Given the description of an element on the screen output the (x, y) to click on. 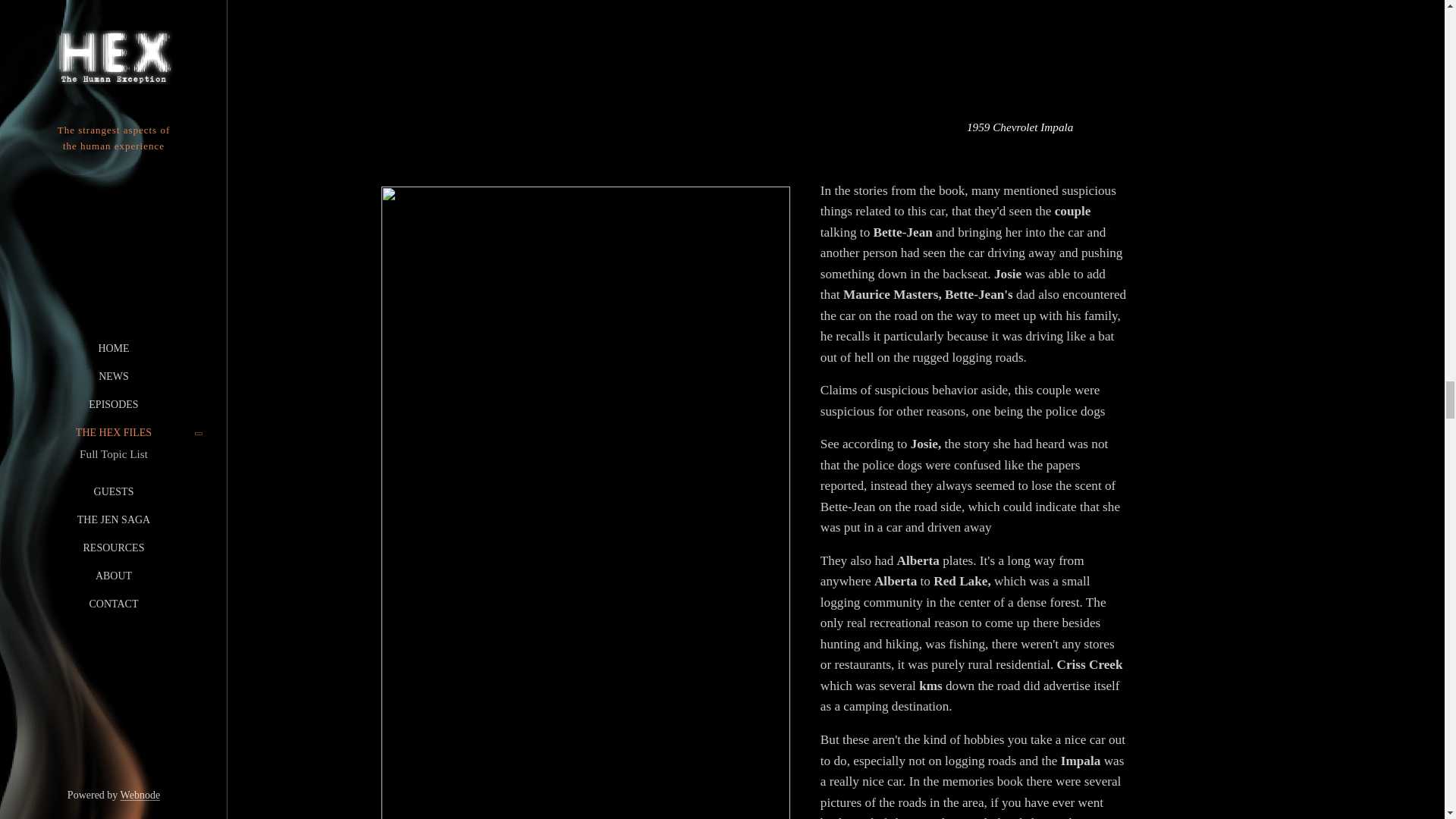
 1959 Chevrolet Impala (1019, 71)
1959 Chevrolet Impala (1019, 71)
